Given the description of an element on the screen output the (x, y) to click on. 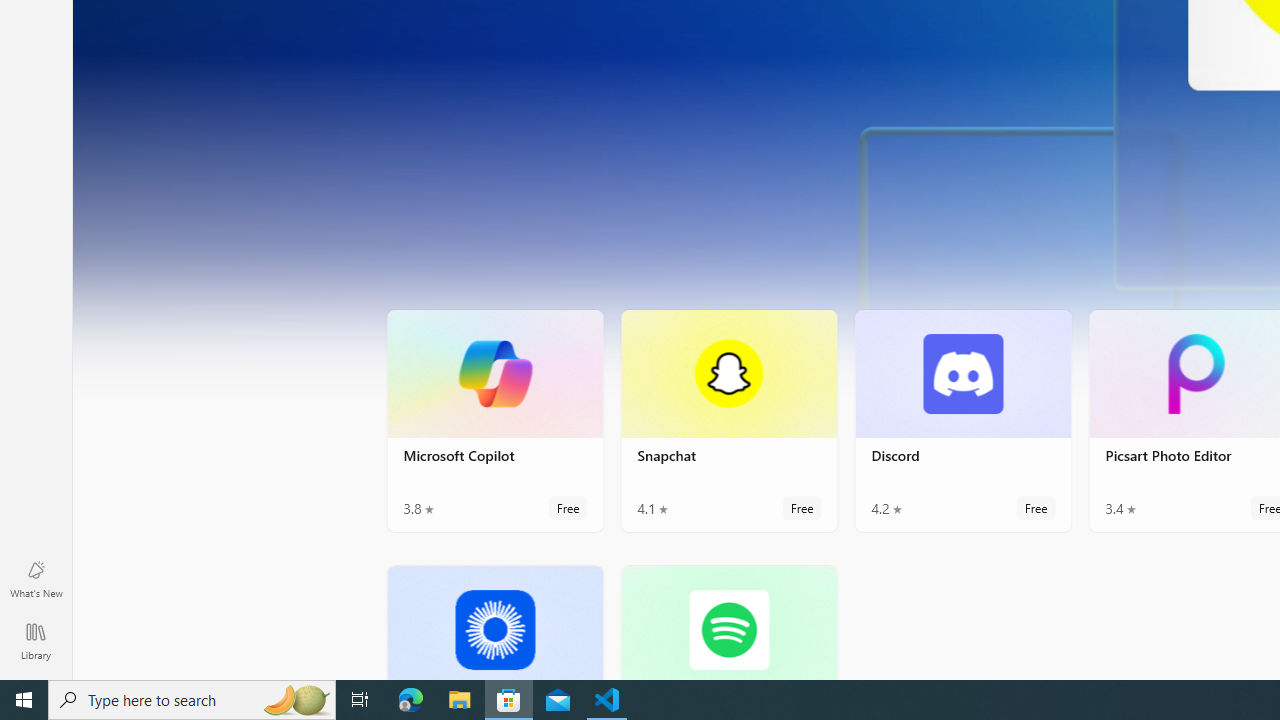
Snapchat. Average rating of 4.1 out of five stars. Free   (728, 420)
Discord. Average rating of 4.2 out of five stars. Free   (962, 420)
